Given the description of an element on the screen output the (x, y) to click on. 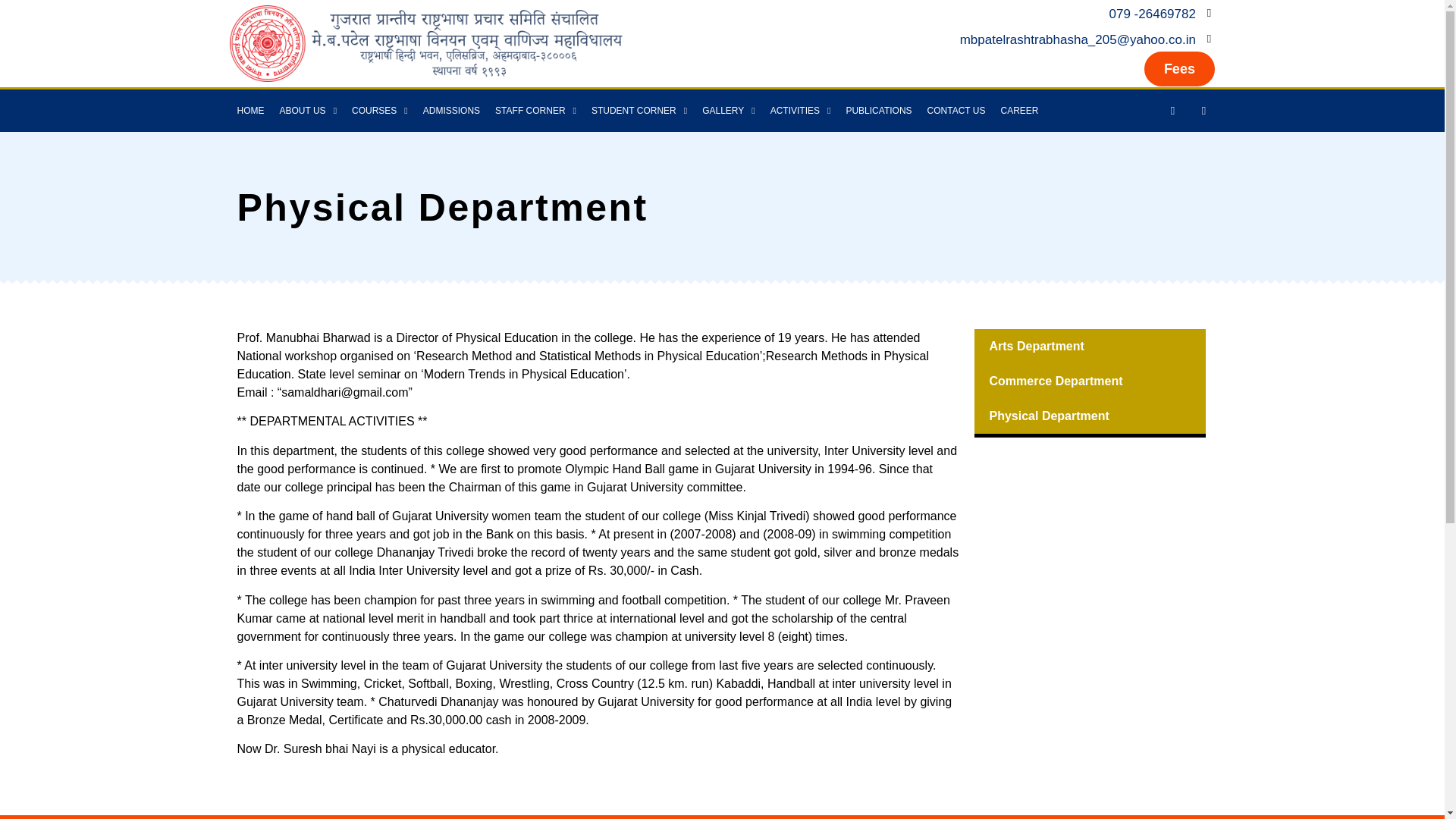
ACTIVITIES (800, 110)
HOME (249, 110)
CAREER (1018, 110)
mbpatel-logo (425, 42)
GALLERY (728, 110)
STAFF CORNER (535, 110)
Fees (1179, 68)
COURSES (378, 110)
ADMISSIONS (450, 110)
CONTACT US (956, 110)
PUBLICATIONS (878, 110)
STUDENT CORNER (638, 110)
ABOUT US (306, 110)
